Given the description of an element on the screen output the (x, y) to click on. 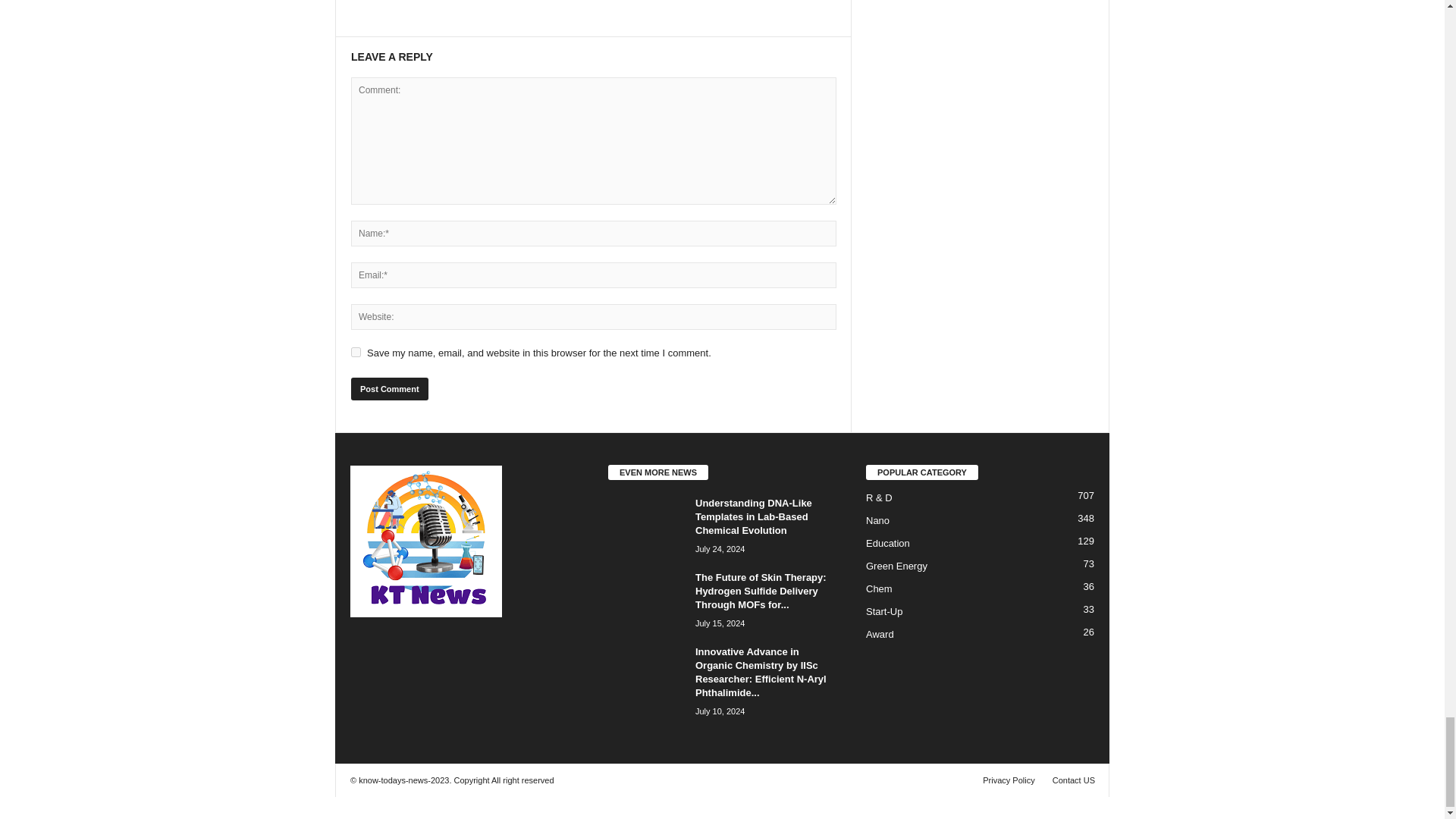
yes (355, 352)
Post Comment (389, 388)
